Given the description of an element on the screen output the (x, y) to click on. 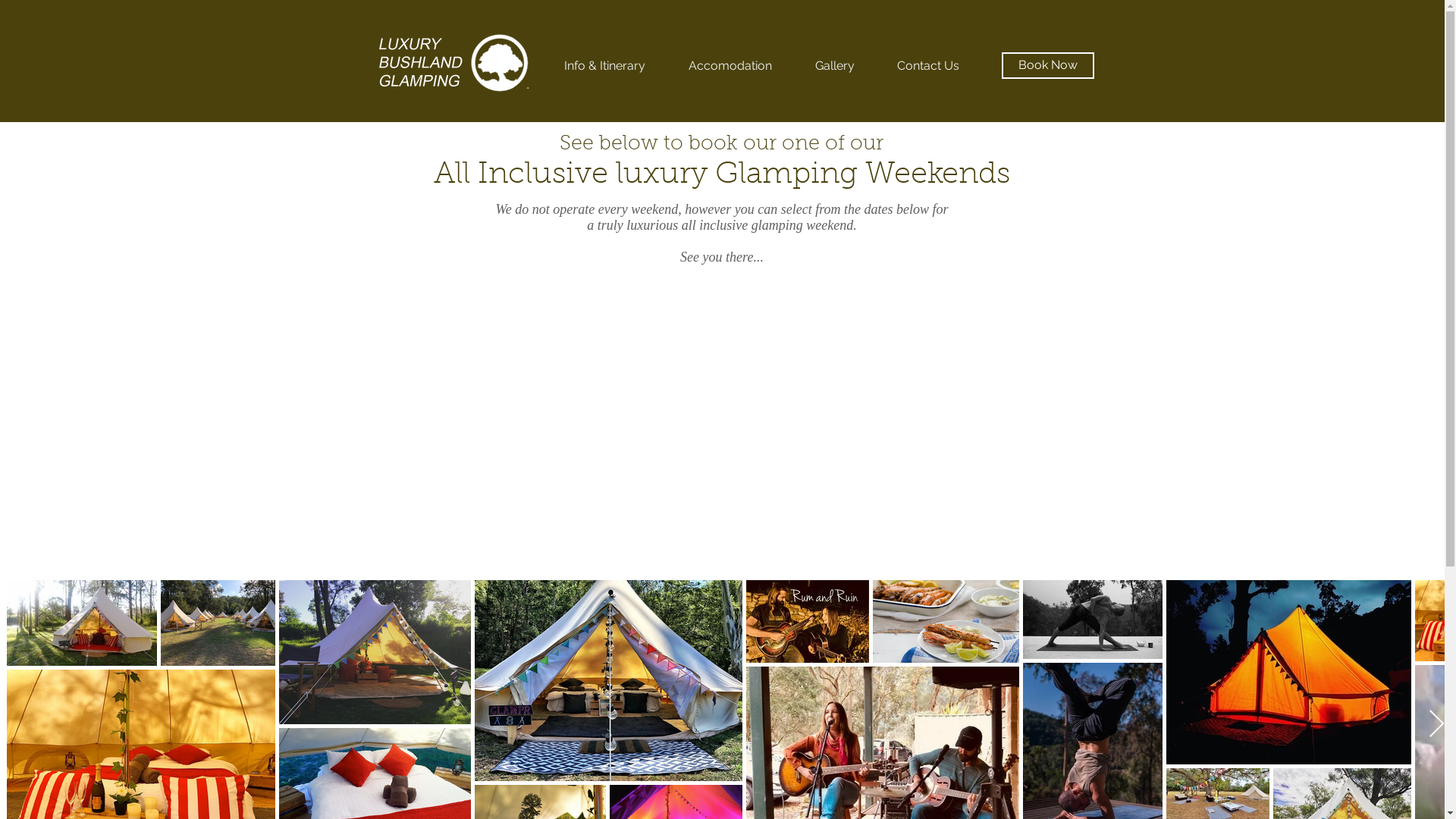
Book Now Element type: text (1047, 65)
Contact Us Element type: text (927, 65)
Gallery Element type: text (834, 65)
Accomodation Element type: text (730, 65)
Info & Itinerary Element type: text (604, 65)
